Given the description of an element on the screen output the (x, y) to click on. 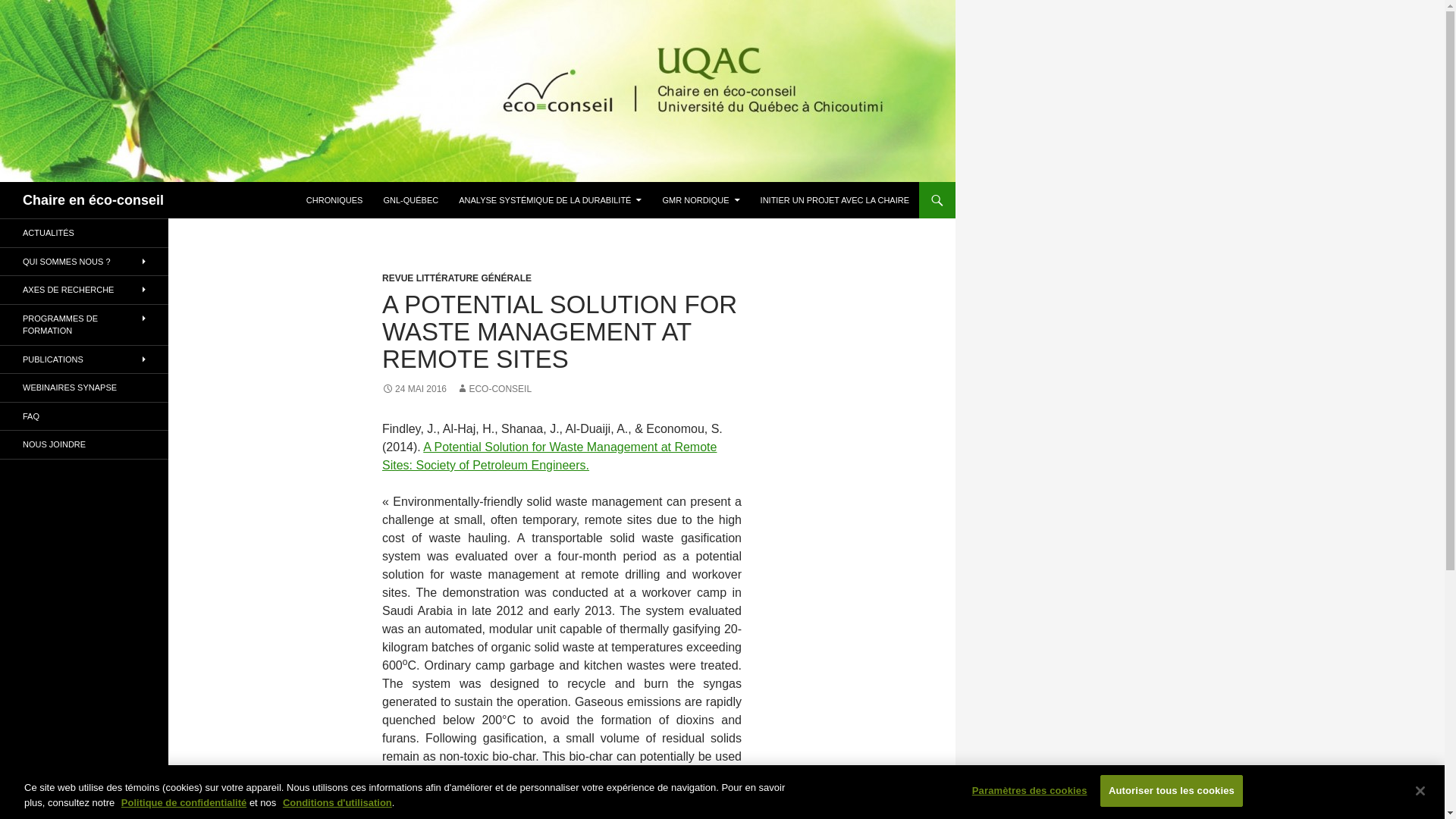
GMR NORDIQUE (701, 199)
CHRONIQUES (334, 199)
AXES DE RECHERCHE (84, 289)
GMR Nordique (701, 199)
24 MAI 2016 (413, 388)
INITIER UN PROJET AVEC LA CHAIRE (834, 199)
ECO-CONSEIL (494, 388)
